Given the description of an element on the screen output the (x, y) to click on. 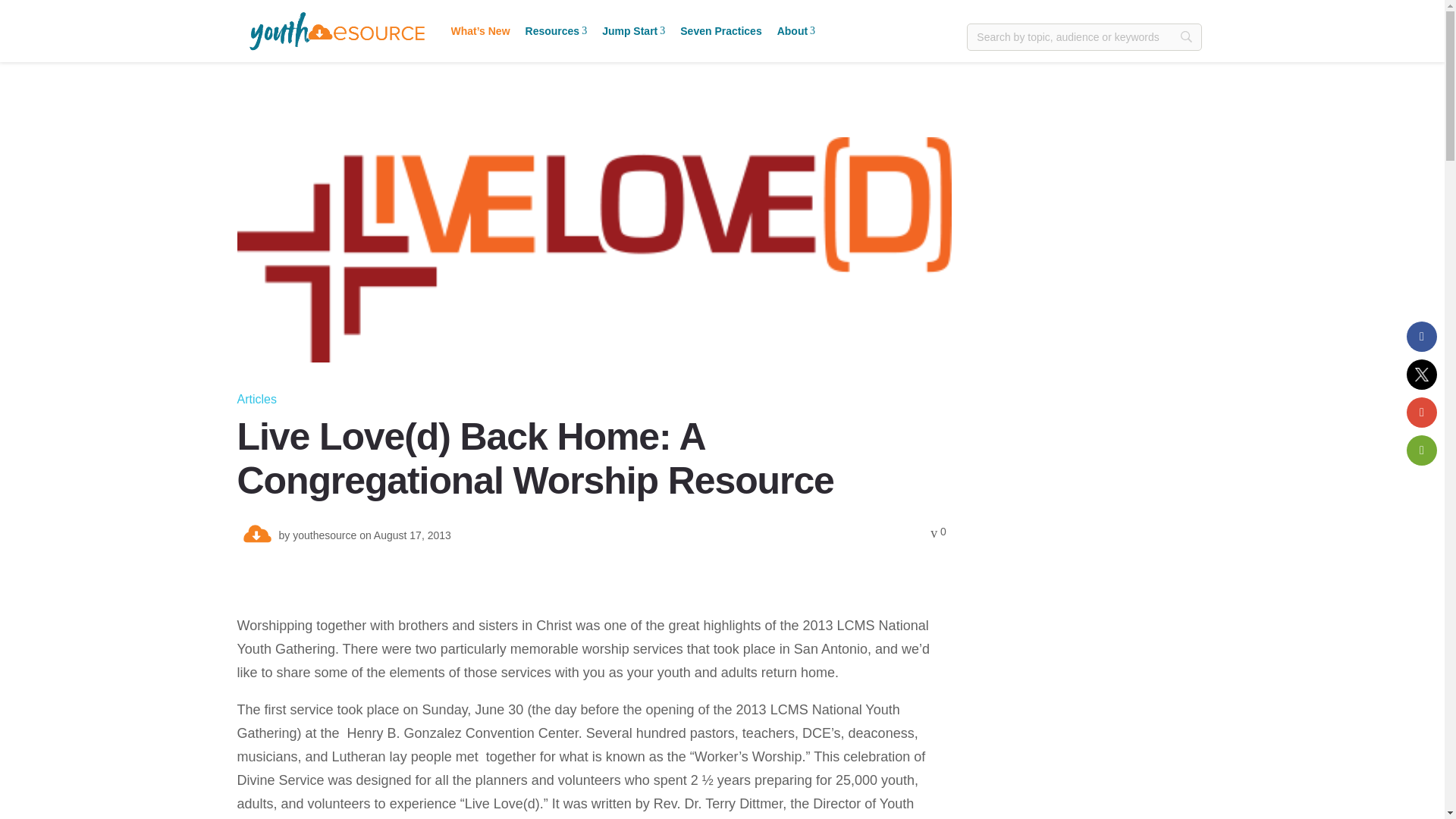
Search by topic, audience or keywords (1083, 36)
live-loved (556, 31)
